Given the description of an element on the screen output the (x, y) to click on. 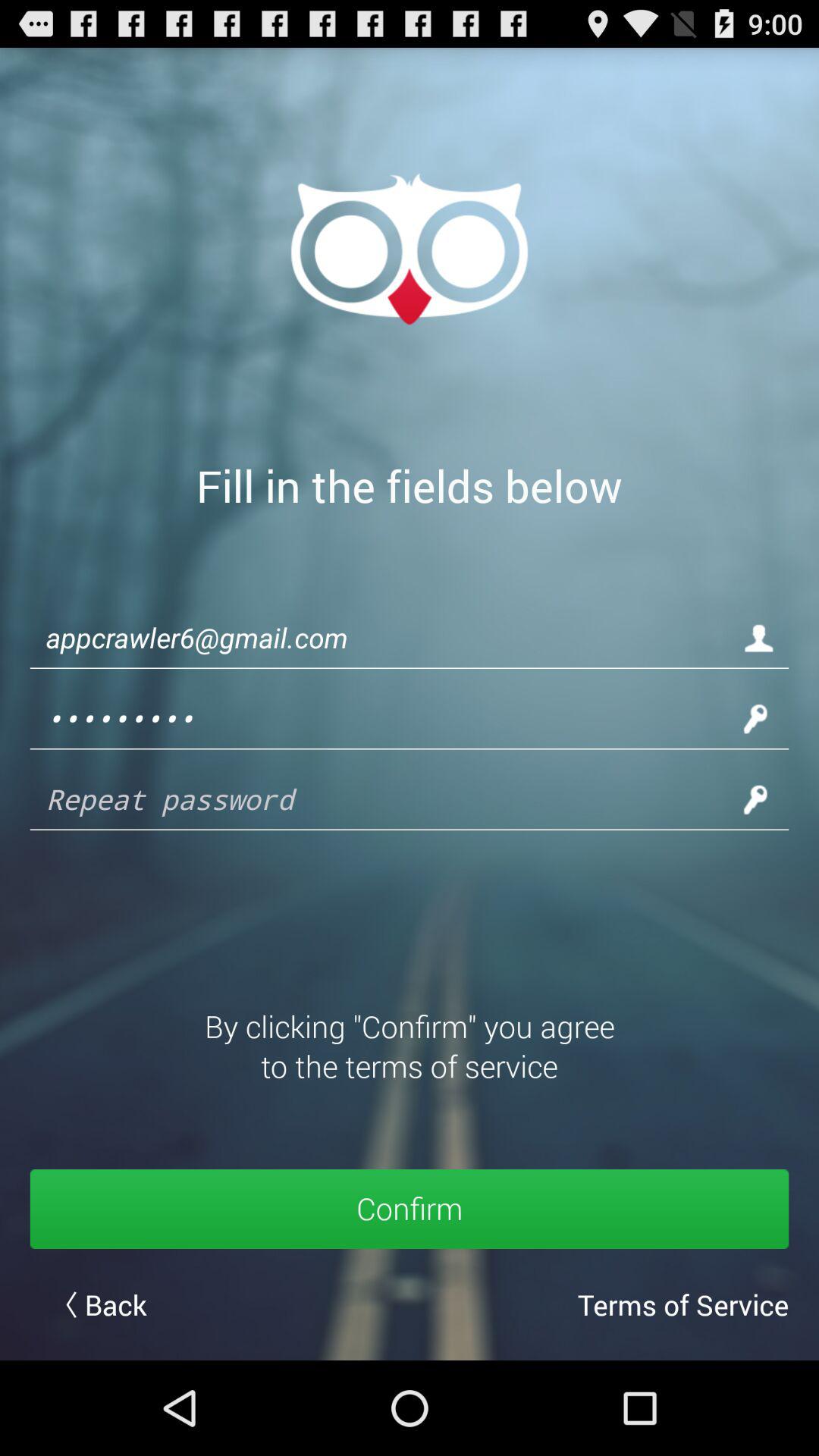
enter password (387, 799)
